Given the description of an element on the screen output the (x, y) to click on. 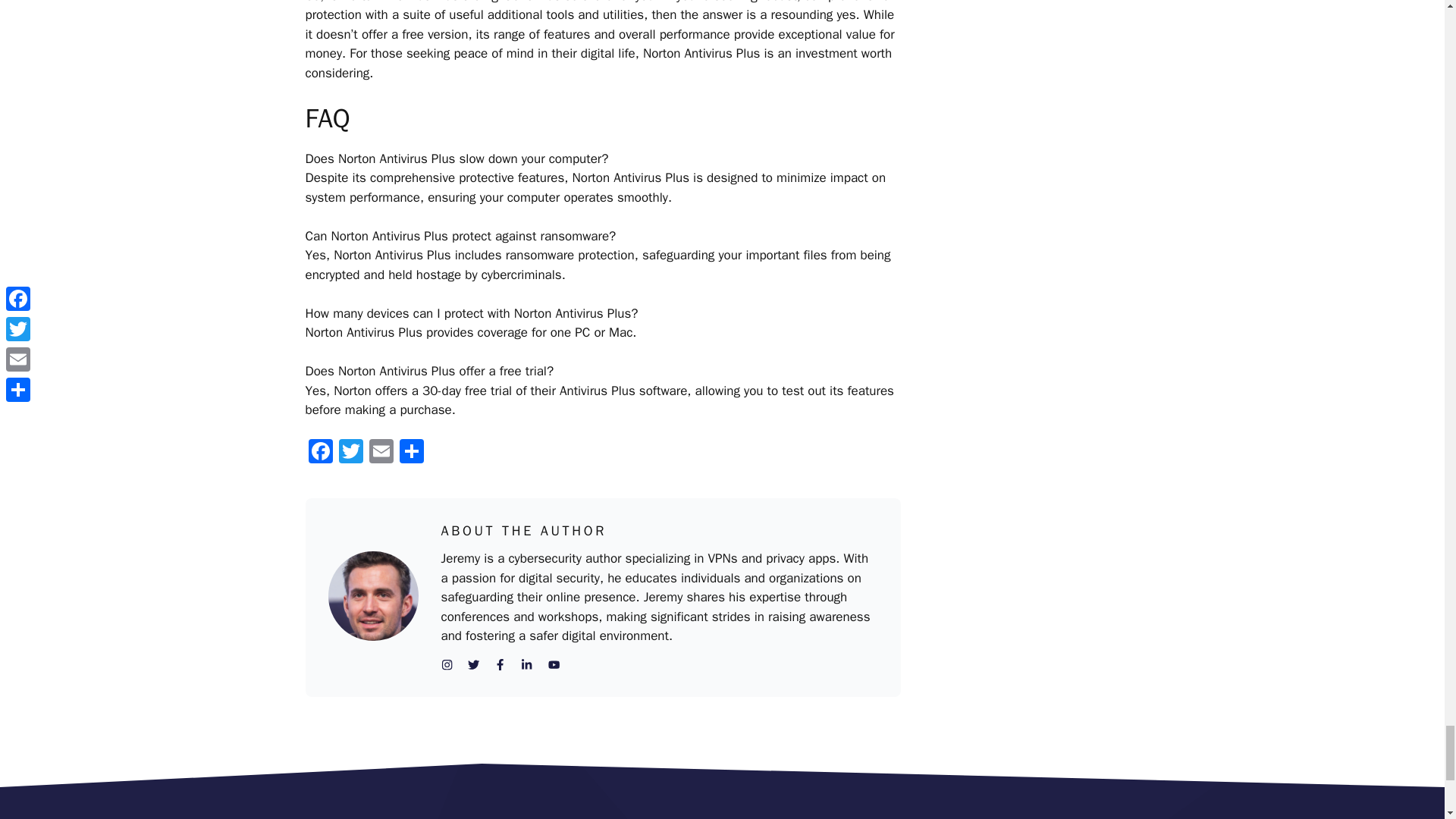
Email (380, 452)
Twitter (349, 452)
Facebook (319, 452)
